Given the description of an element on the screen output the (x, y) to click on. 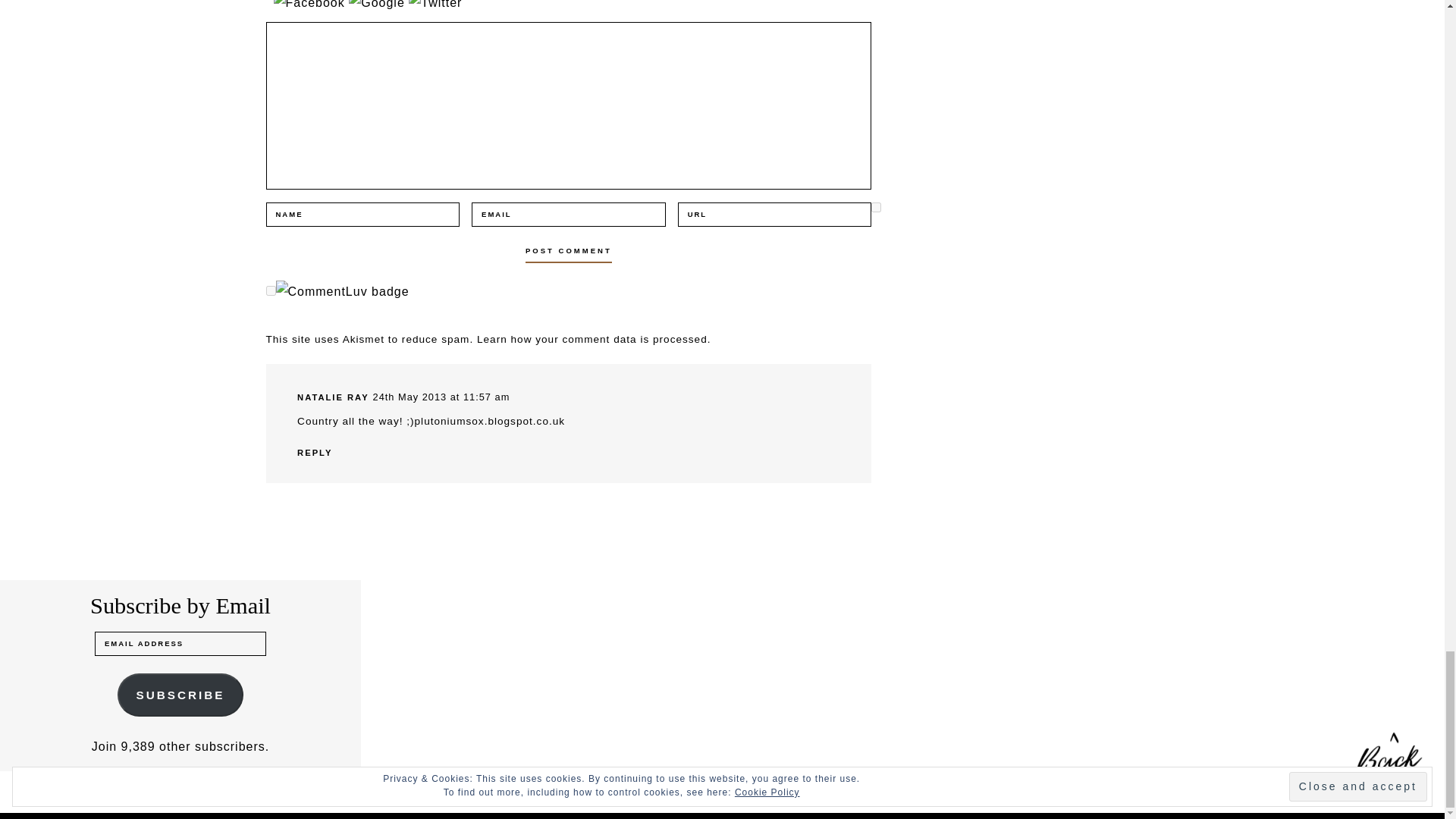
Connect with Twitter (435, 4)
Post Comment (568, 250)
1 (875, 207)
on (269, 290)
Connect with Facebook (311, 4)
Connect with Google (379, 4)
